Given the description of an element on the screen output the (x, y) to click on. 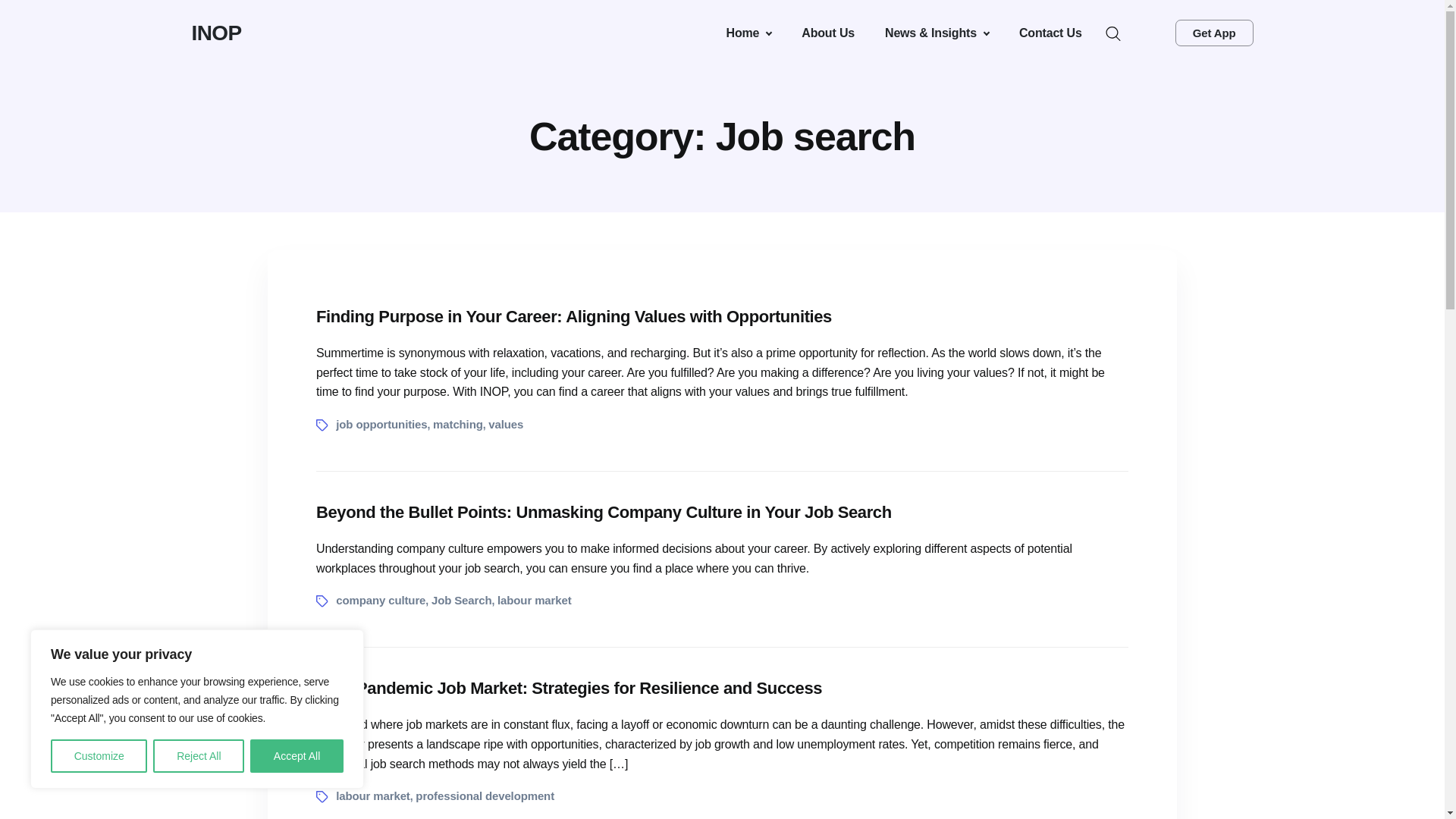
Contact Us (1050, 32)
INOP (215, 32)
Get App (1213, 32)
job opportunities (381, 423)
Search (16, 16)
values (504, 423)
Accept All (296, 756)
Home (749, 32)
